Given the description of an element on the screen output the (x, y) to click on. 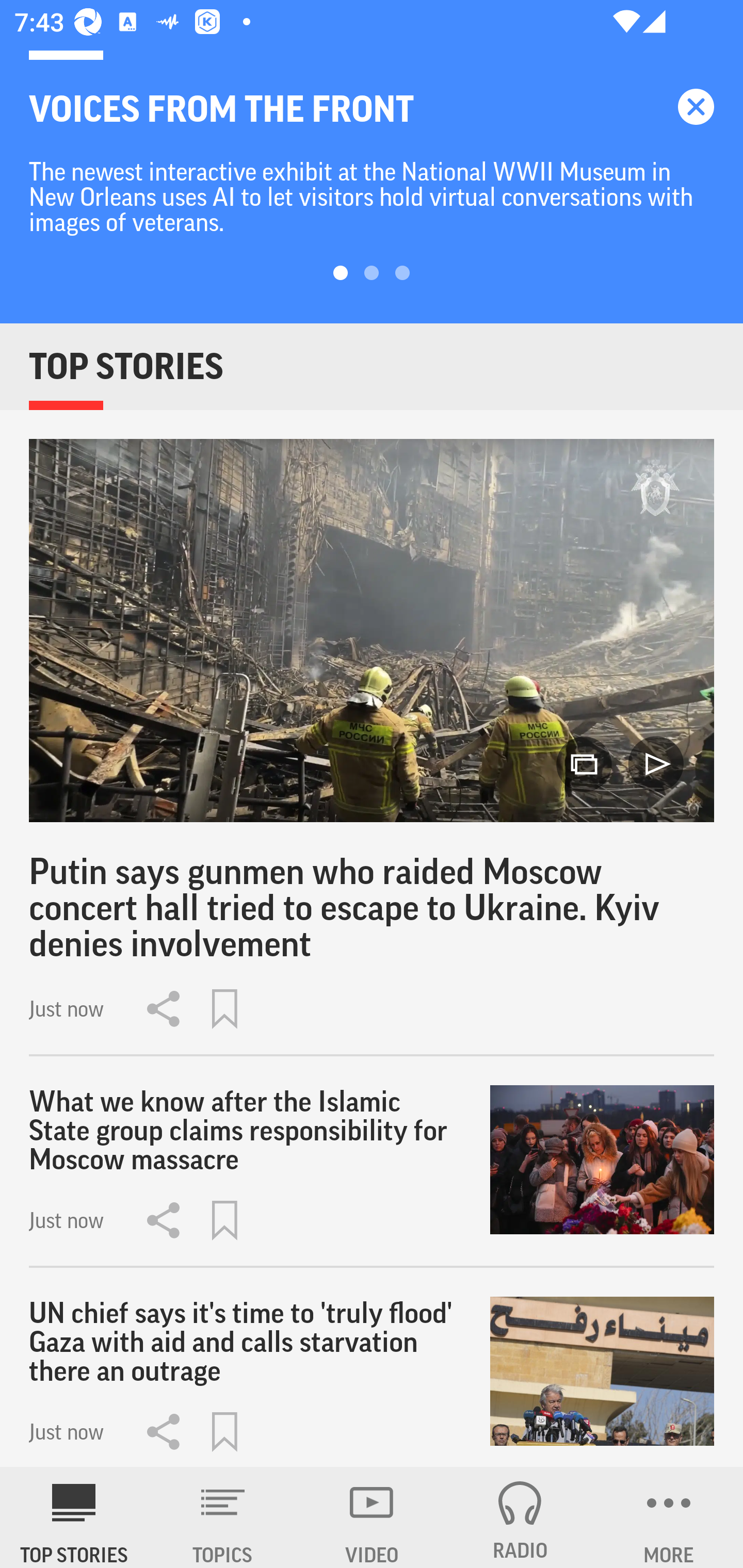
AP News TOP STORIES (74, 1517)
TOPICS (222, 1517)
VIDEO (371, 1517)
RADIO (519, 1517)
MORE (668, 1517)
